Given the description of an element on the screen output the (x, y) to click on. 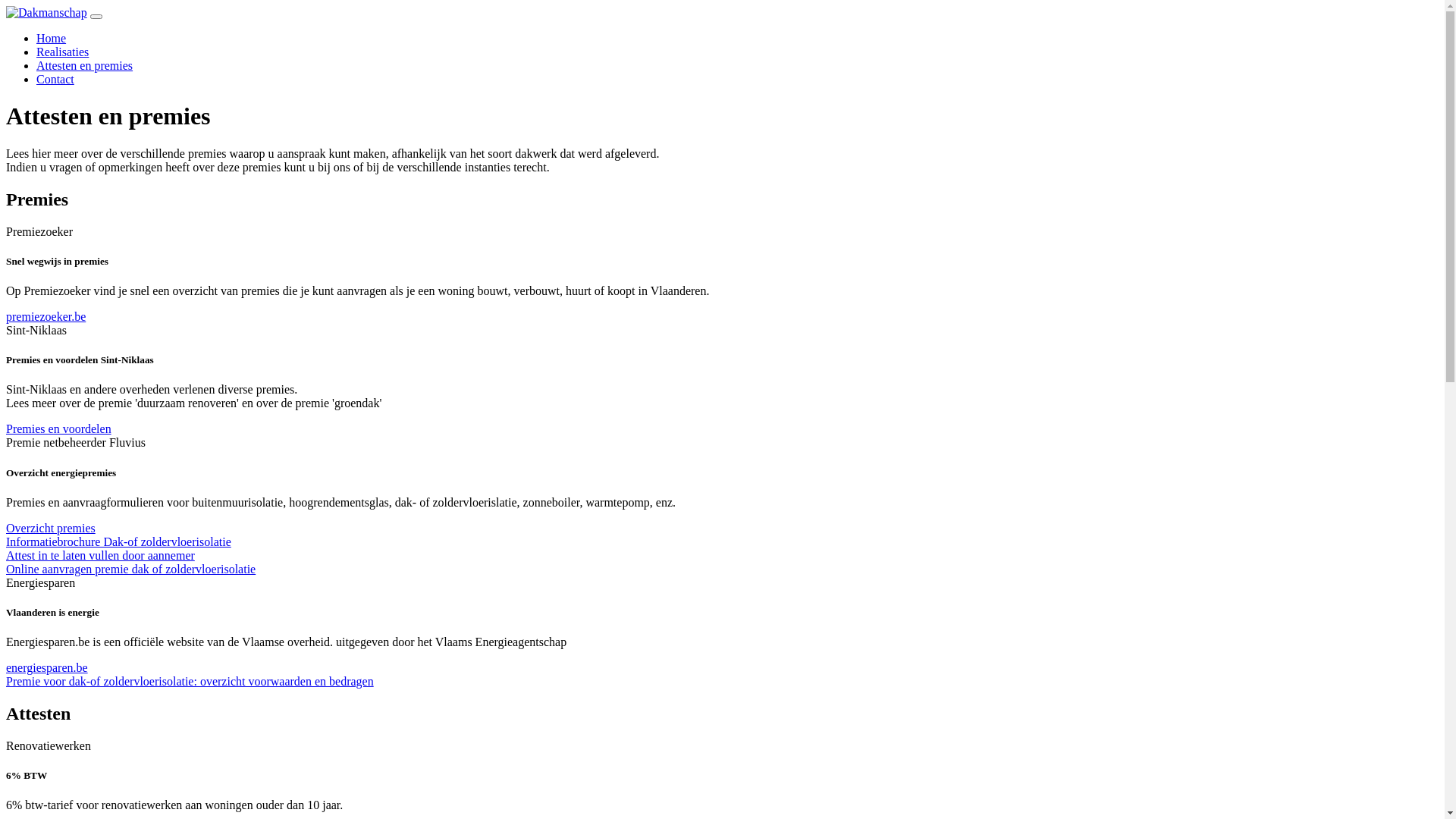
Contact Element type: text (55, 78)
Online aanvragen premie dak of zoldervloerisolatie Element type: text (130, 568)
Attest in te laten vullen door aannemer Element type: text (100, 555)
Home Element type: text (50, 37)
Overzicht premies Element type: text (50, 527)
Attesten en premies Element type: text (84, 65)
Informatiebrochure Dak-of zoldervloerisolatie Element type: text (118, 541)
premiezoeker.be Element type: text (45, 316)
Premies en voordelen Element type: text (58, 428)
Realisaties Element type: text (62, 51)
energiesparen.be Element type: text (46, 667)
